Given the description of an element on the screen output the (x, y) to click on. 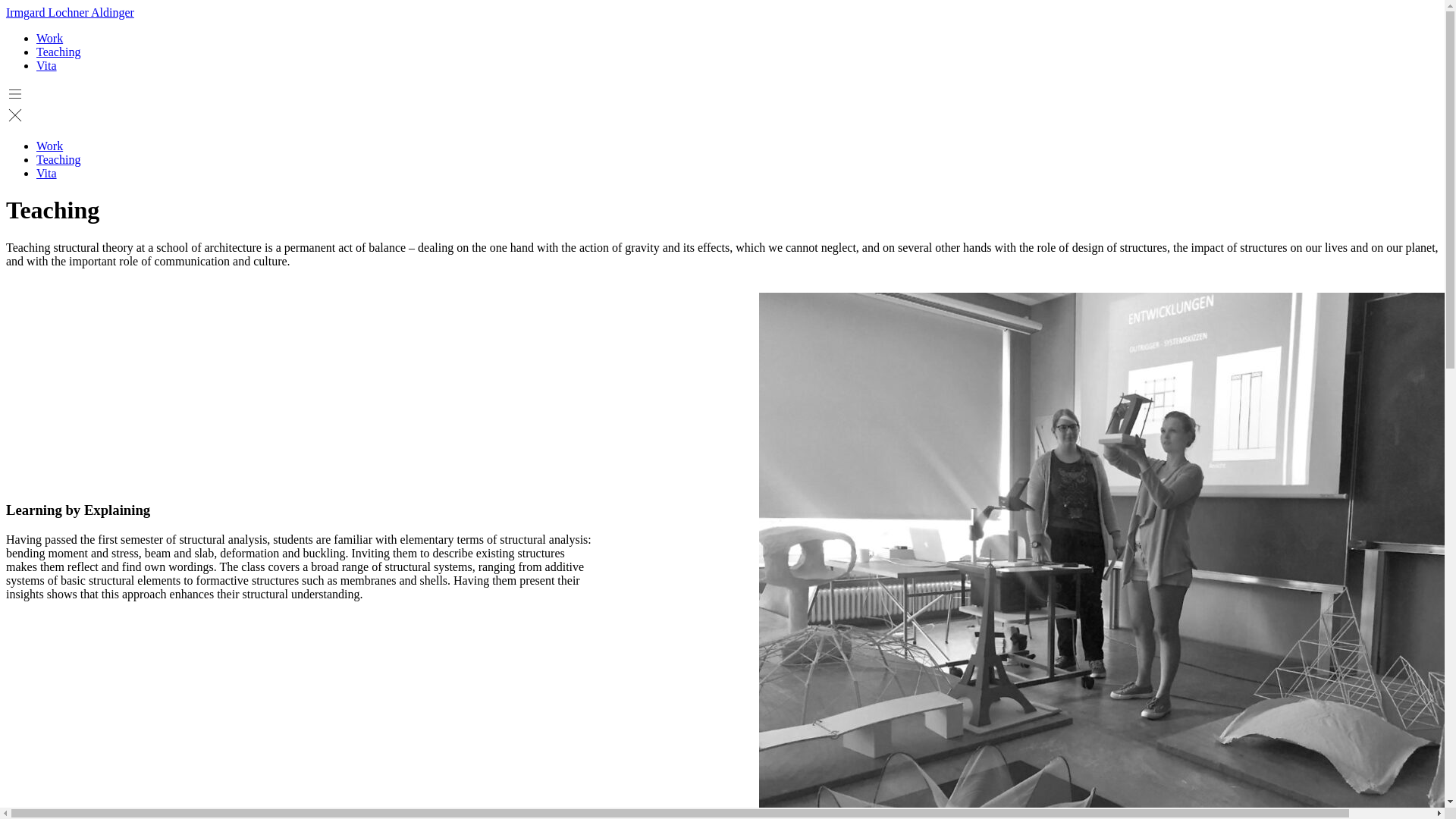
Vita (46, 173)
Teaching (58, 51)
Teaching (58, 159)
Irmgard Lochner Aldinger (69, 11)
Work (49, 145)
Vita (46, 65)
Work (49, 38)
Irmgard Lochner Aldinger (69, 11)
